Given the description of an element on the screen output the (x, y) to click on. 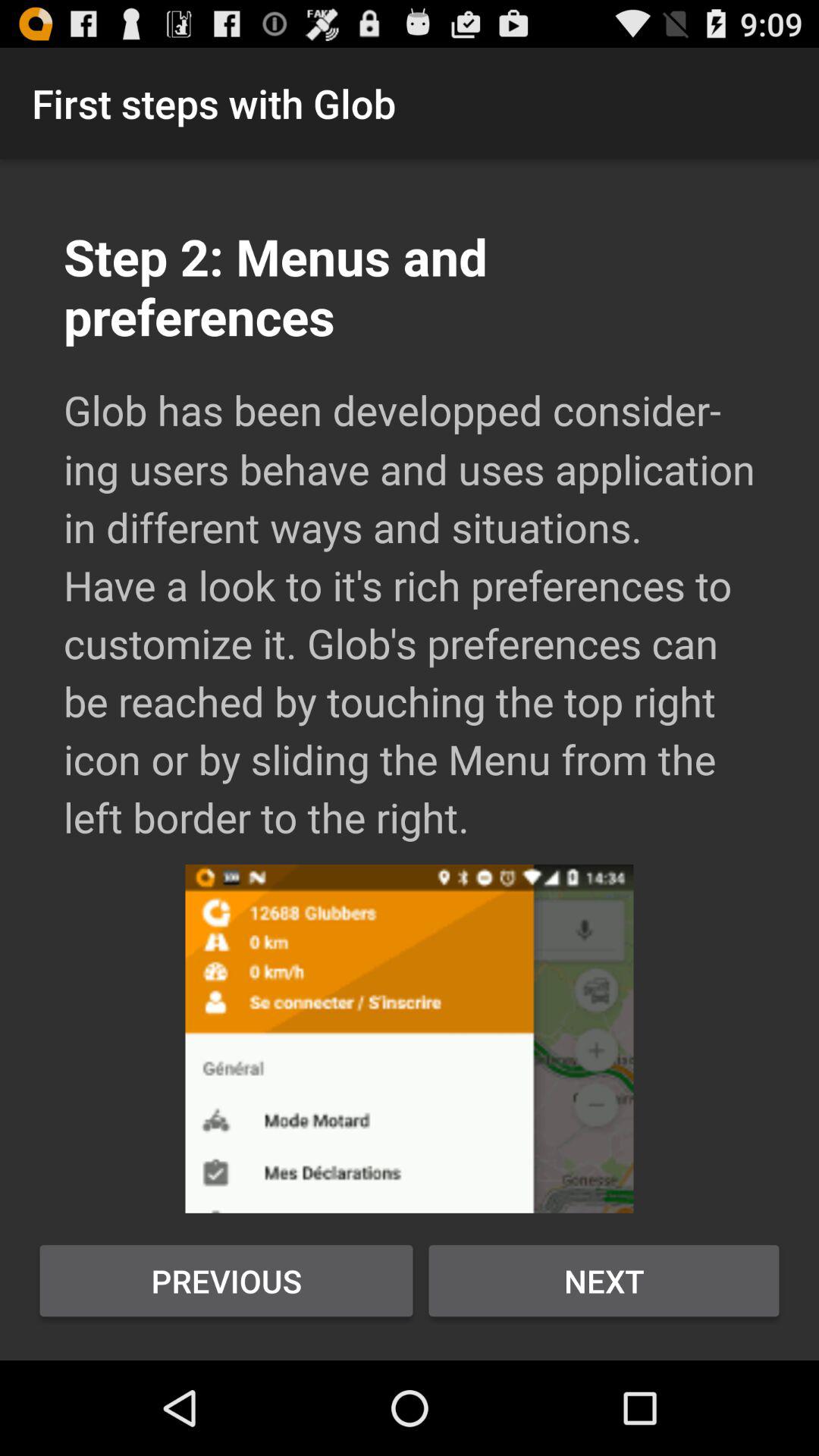
click next icon (603, 1280)
